Given the description of an element on the screen output the (x, y) to click on. 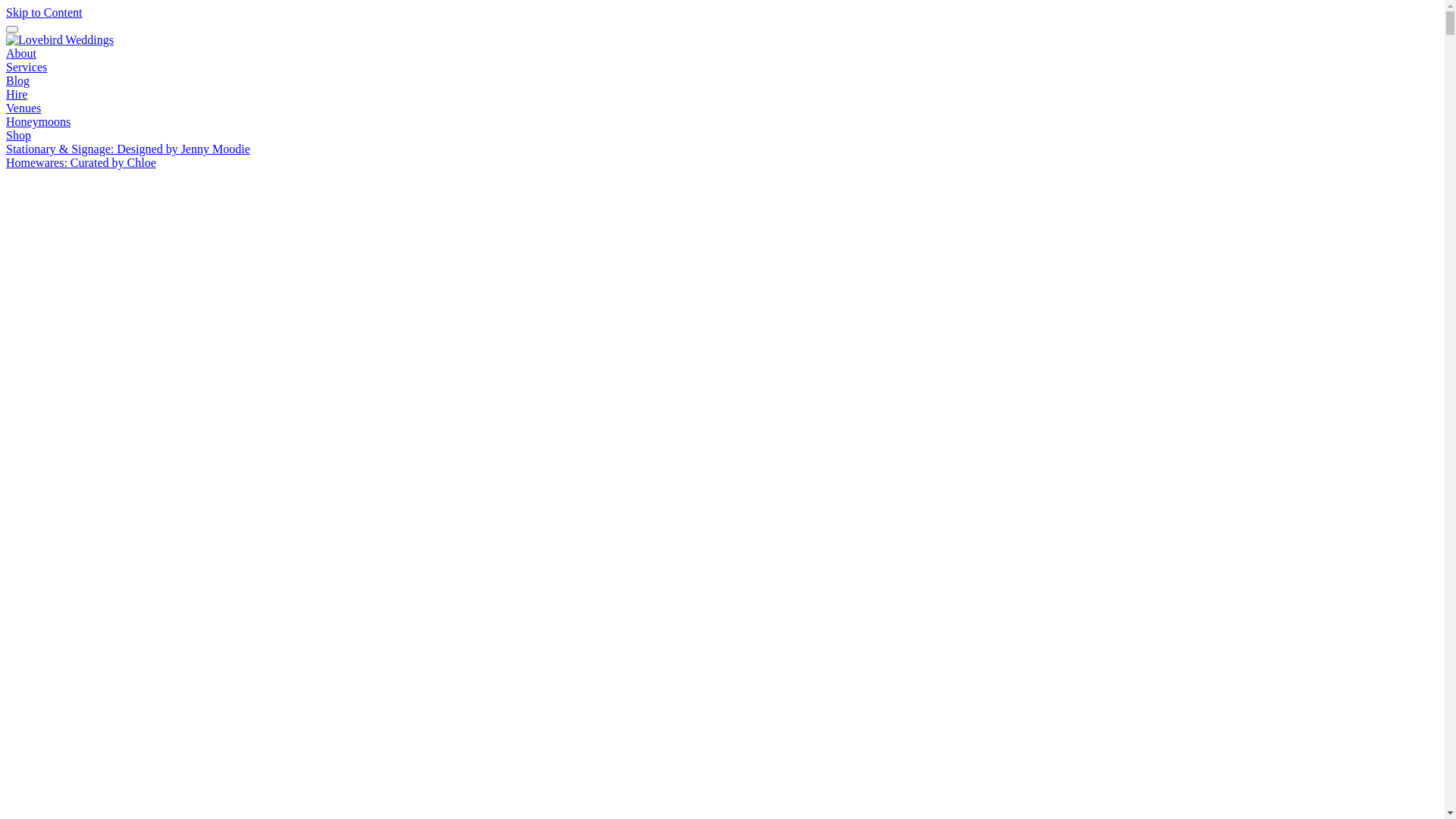
About Element type: text (21, 53)
Hire Element type: text (16, 93)
Honeymoons Element type: text (38, 121)
Shop Element type: text (18, 134)
Blog Element type: text (17, 80)
Venues Element type: text (23, 107)
Services Element type: text (26, 66)
Skip to Content Element type: text (43, 12)
Homewares: Curated by Chloe Element type: text (81, 162)
Stationary & Signage: Designed by Jenny Moodie Element type: text (128, 148)
